Given the description of an element on the screen output the (x, y) to click on. 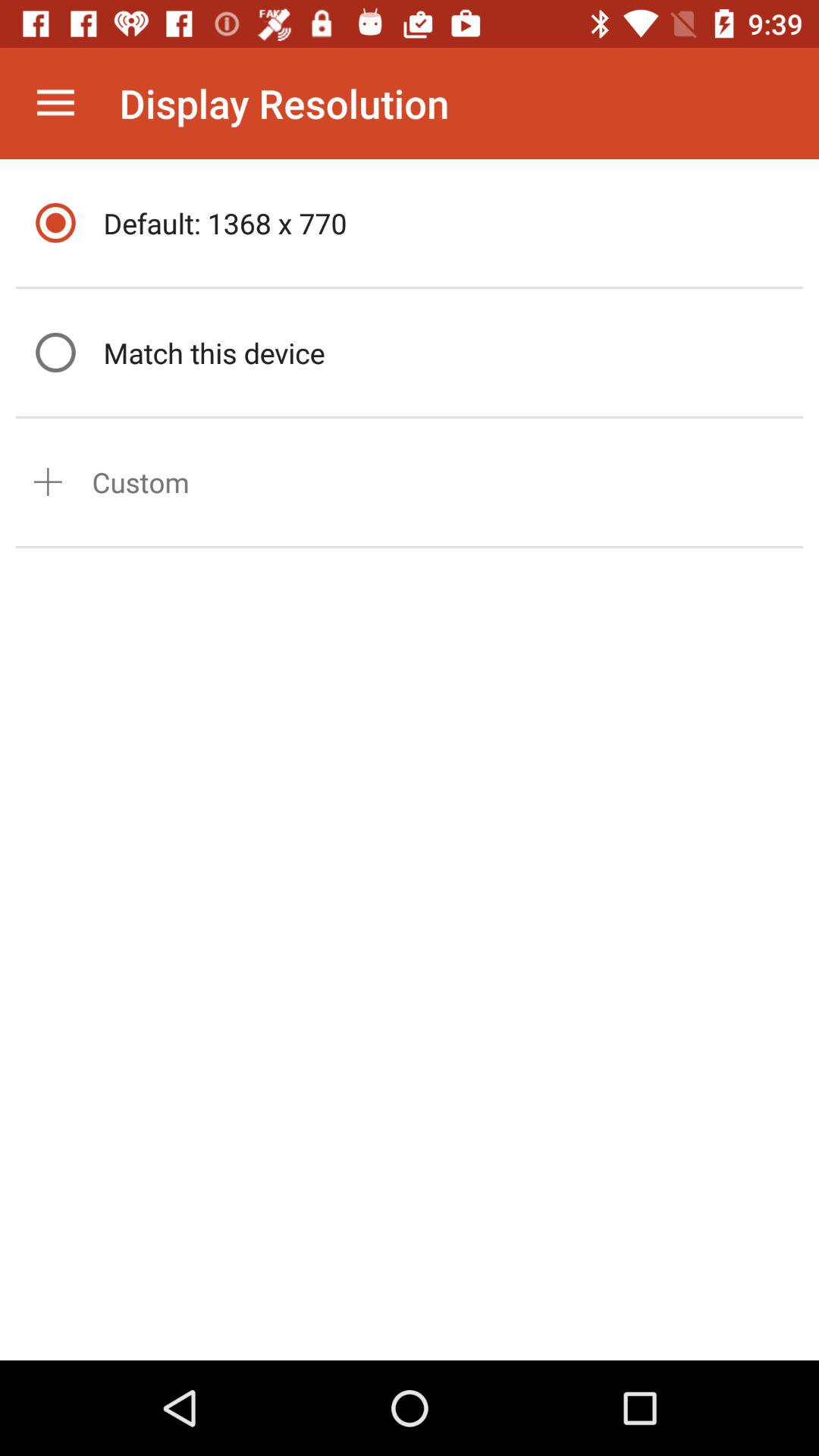
press the custom item (140, 482)
